Given the description of an element on the screen output the (x, y) to click on. 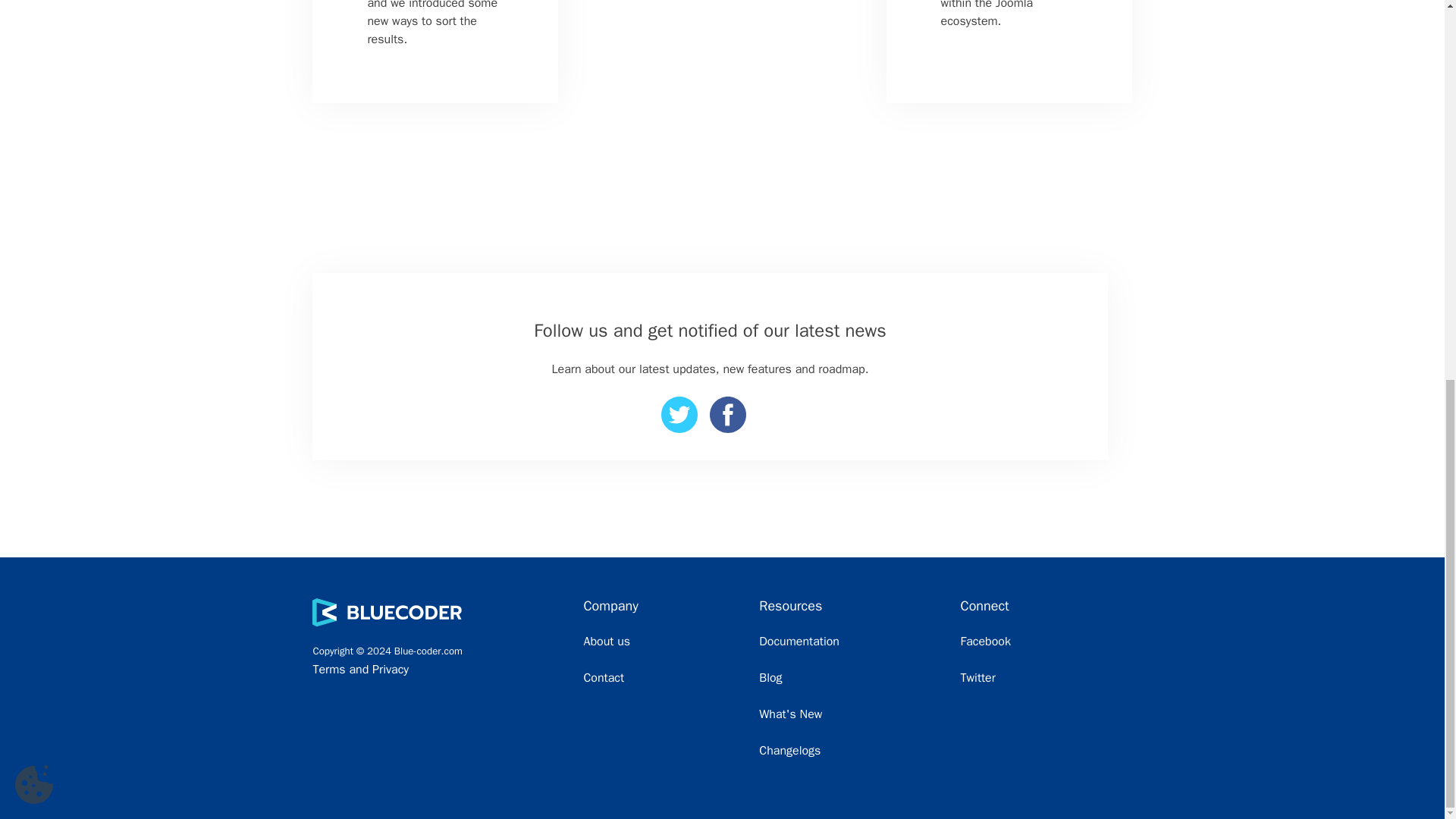
Terms (329, 669)
About us (670, 641)
Privacy (390, 669)
Contact (670, 678)
What's New (858, 714)
Blog (858, 678)
Documentation (799, 641)
Twitter (977, 677)
Changelogs (858, 751)
Facebook (985, 641)
